Given the description of an element on the screen output the (x, y) to click on. 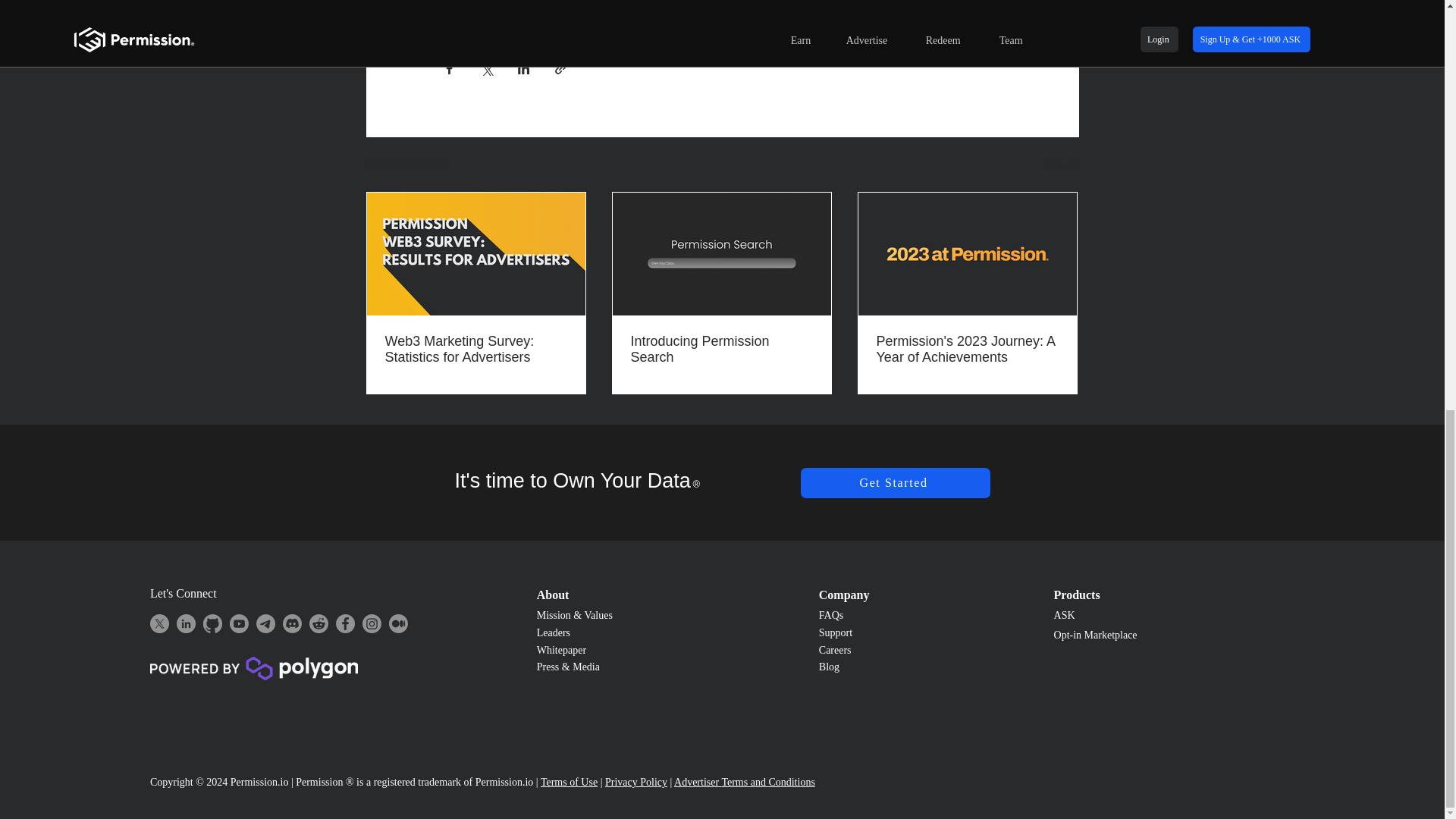
Terms of Use (568, 781)
Web3 Marketing Survey: Statistics for Advertisers (476, 349)
Get Started (895, 482)
Privacy Policy (635, 781)
Whitepaper (561, 650)
See All (1061, 165)
Permission's 2023 Journey: A Year of Achievements (967, 349)
About (553, 594)
Introducing Permission Search (721, 349)
Advertiser Terms and Conditions (744, 781)
